Given the description of an element on the screen output the (x, y) to click on. 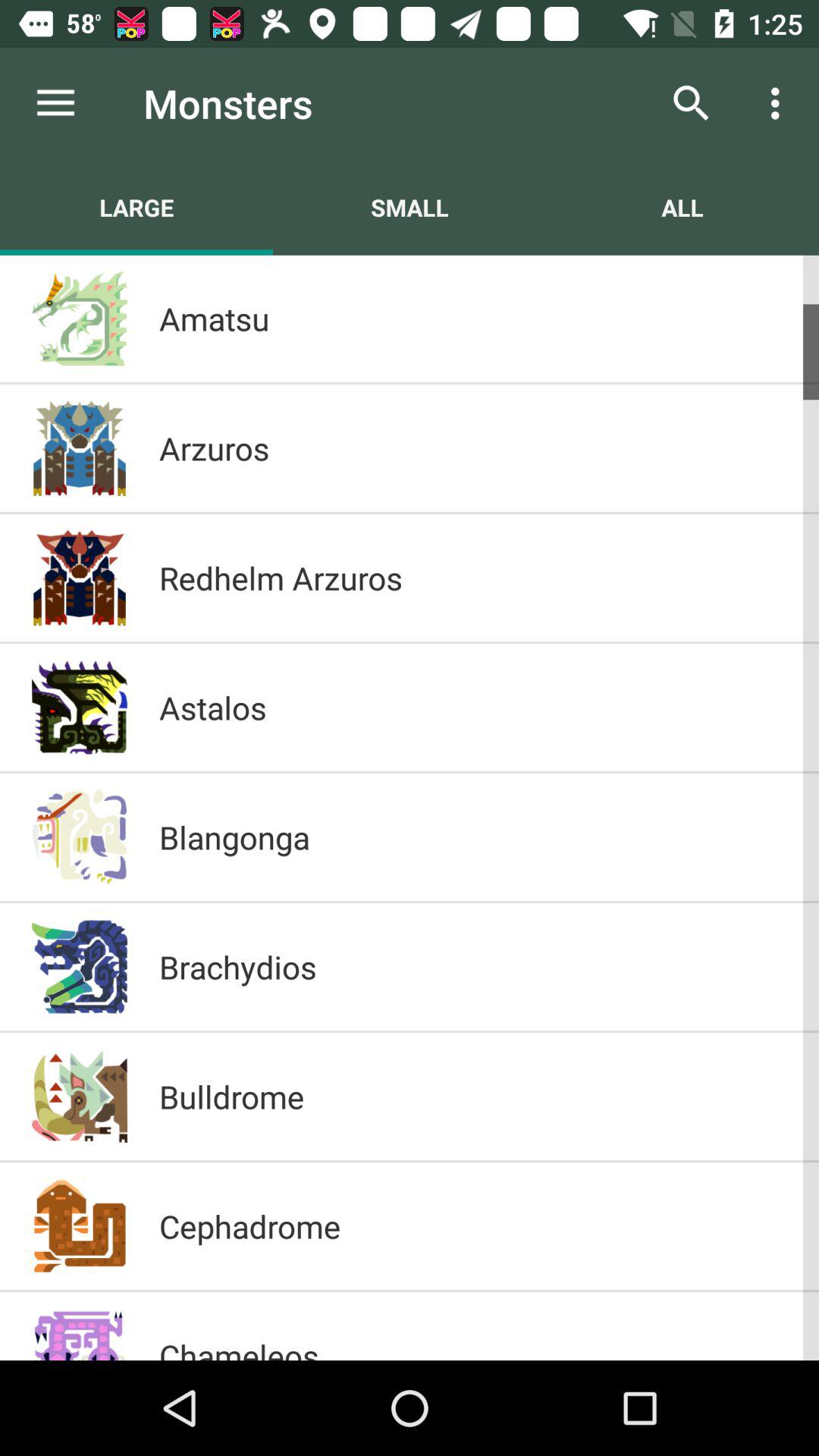
swipe until the large item (136, 207)
